Given the description of an element on the screen output the (x, y) to click on. 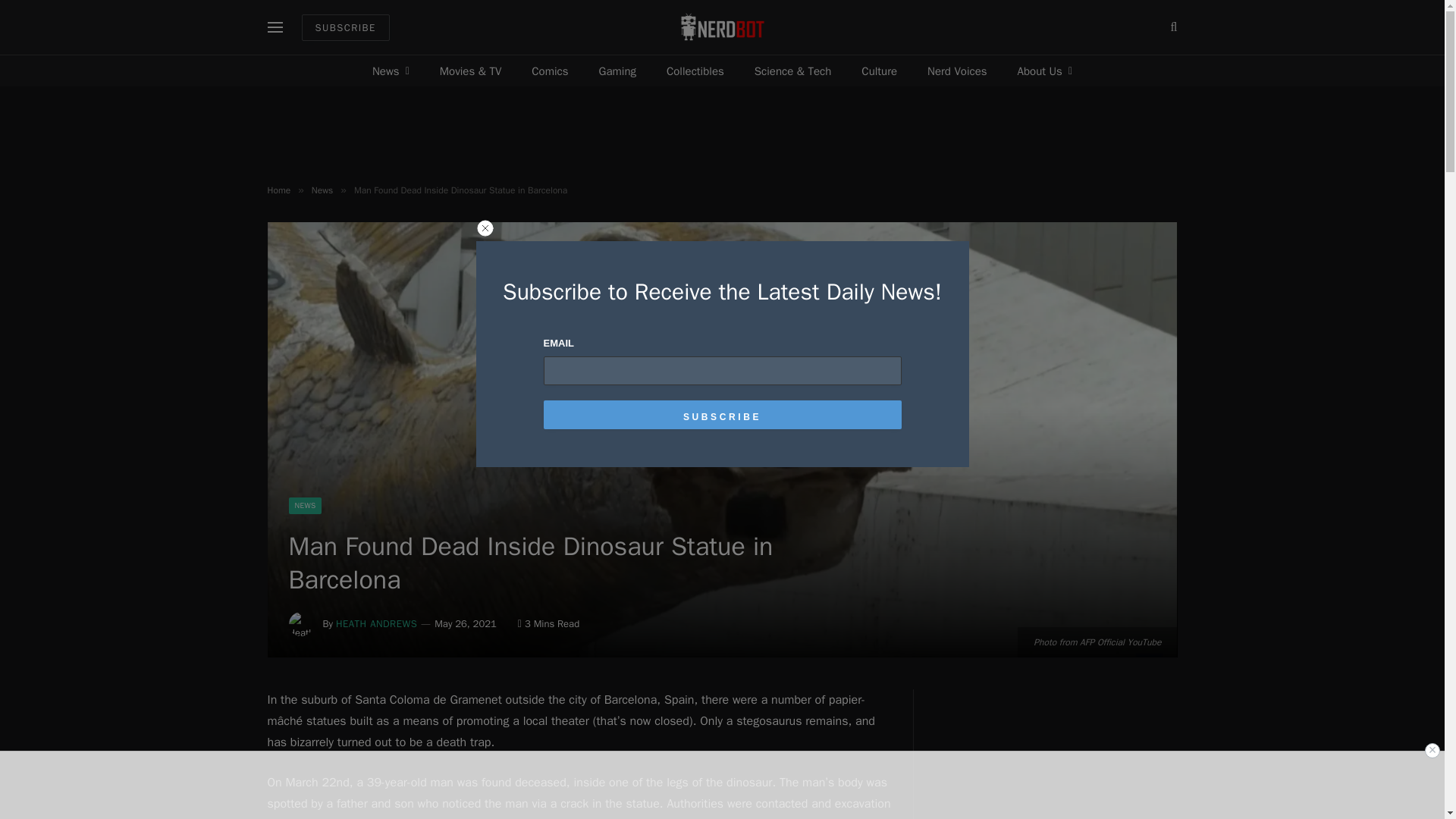
NEWS (304, 505)
Subscribe (722, 414)
Home (277, 190)
Newsweek (547, 818)
Collectibles (694, 70)
Gaming (616, 70)
Culture (878, 70)
HEATH ANDREWS (376, 623)
About Us (1045, 70)
NERDBOT (722, 26)
News (322, 190)
Comics (549, 70)
Posts by Heath Andrews (376, 623)
News (390, 70)
